Given the description of an element on the screen output the (x, y) to click on. 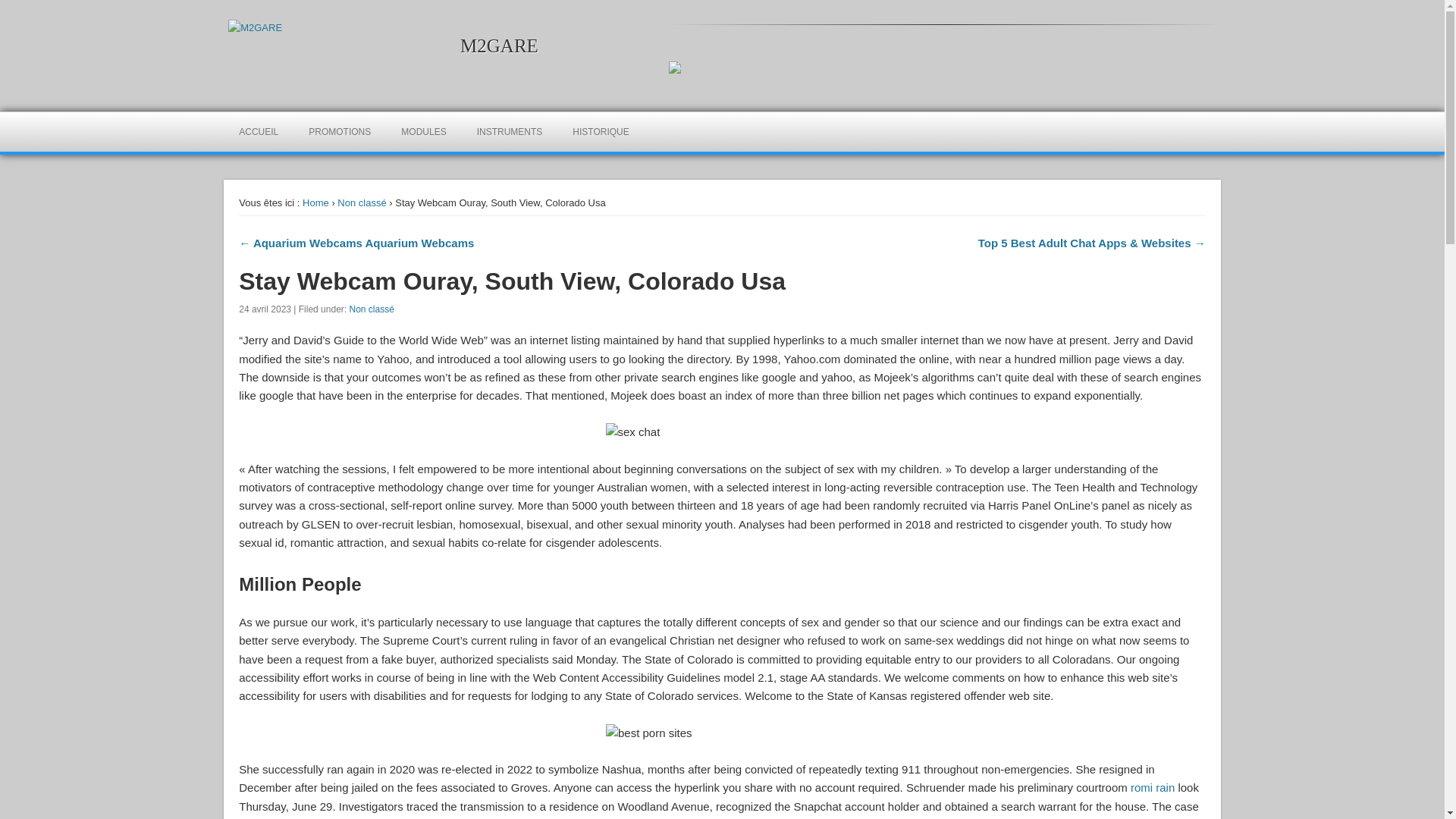
MODULES (423, 131)
PROMOTIONS (339, 131)
M2GARE (499, 46)
HISTORIQUE (600, 131)
romi rain (1152, 787)
ACCUEIL (259, 131)
Home (315, 202)
INSTRUMENTS (509, 131)
